Given the description of an element on the screen output the (x, y) to click on. 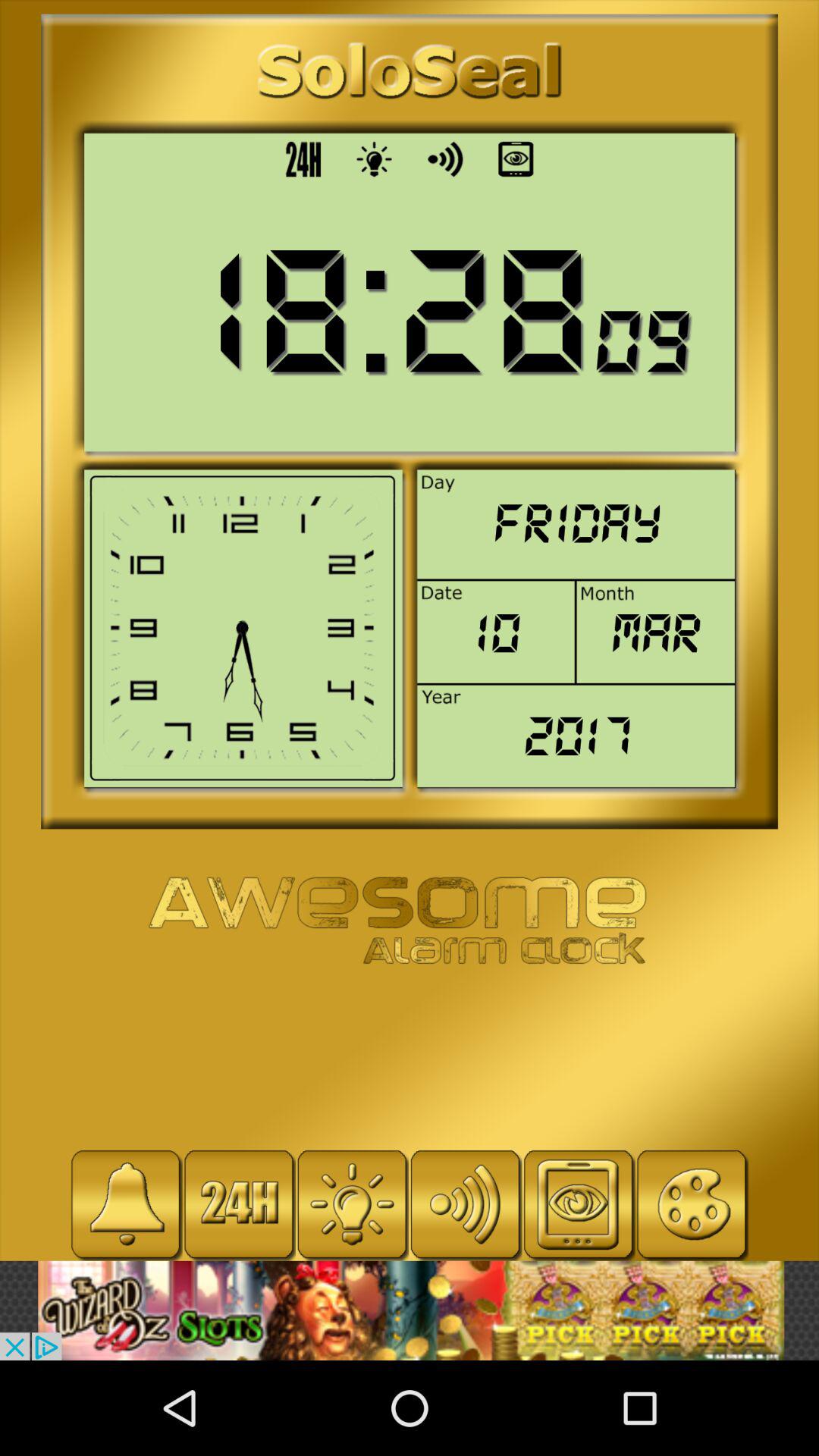
go to wifi (465, 1203)
